Given the description of an element on the screen output the (x, y) to click on. 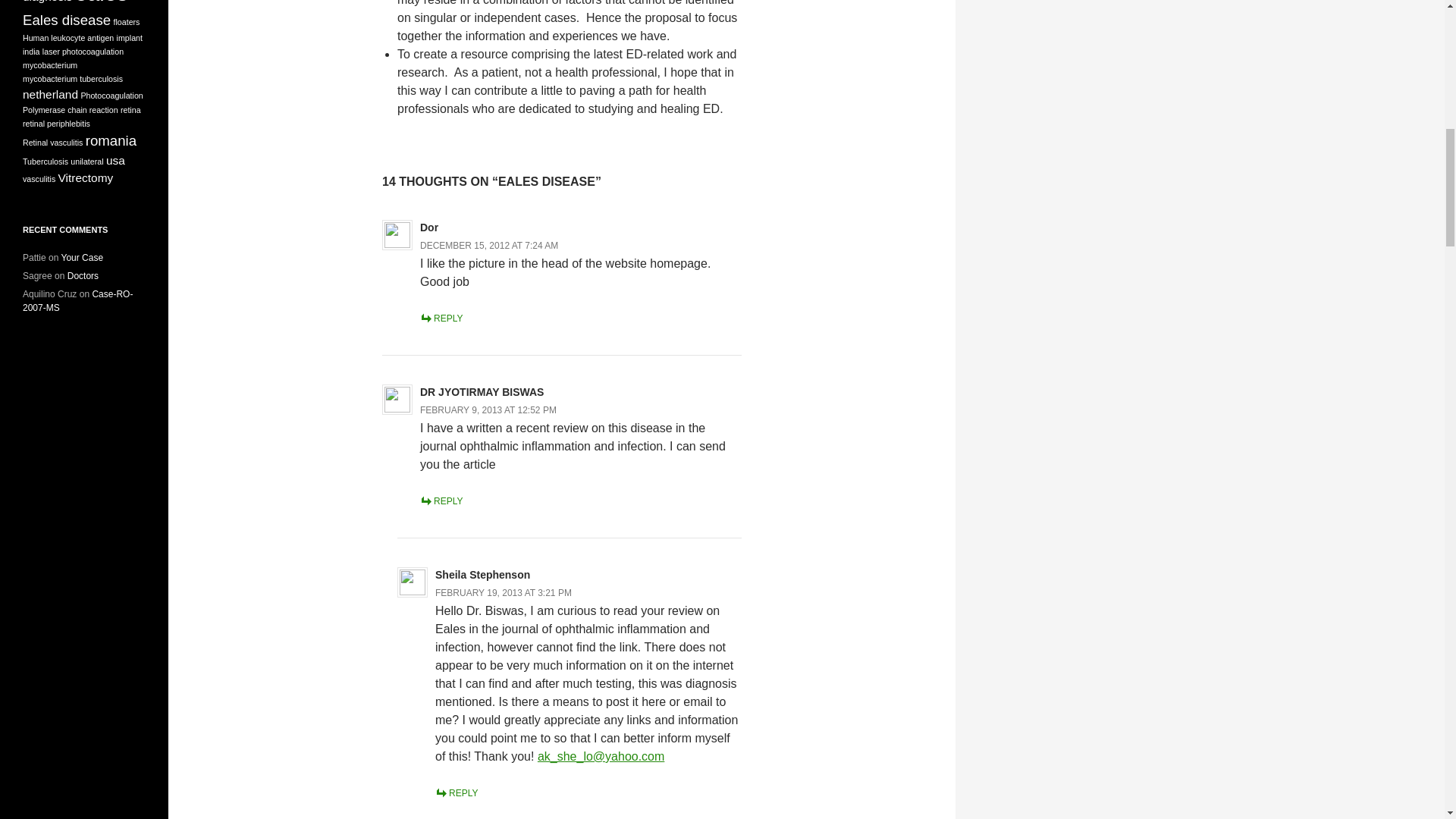
FEBRUARY 19, 2013 AT 3:21 PM (503, 593)
Sheila Stephenson (482, 574)
REPLY (441, 317)
REPLY (456, 792)
FEBRUARY 9, 2013 AT 12:52 PM (488, 409)
REPLY (441, 501)
DECEMBER 15, 2012 AT 7:24 AM (488, 245)
